Given the description of an element on the screen output the (x, y) to click on. 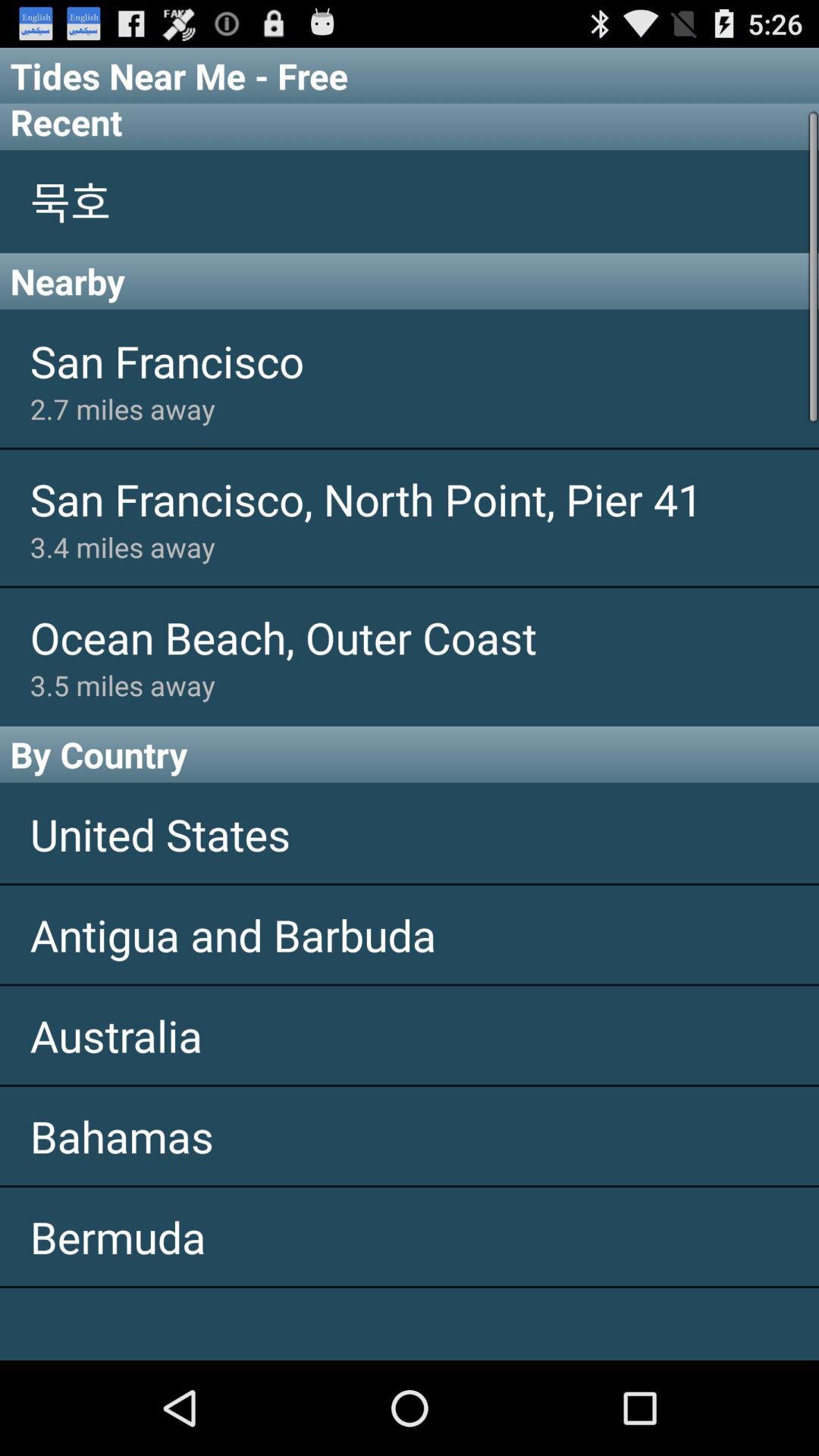
tap app above the bahamas icon (409, 1035)
